Given the description of an element on the screen output the (x, y) to click on. 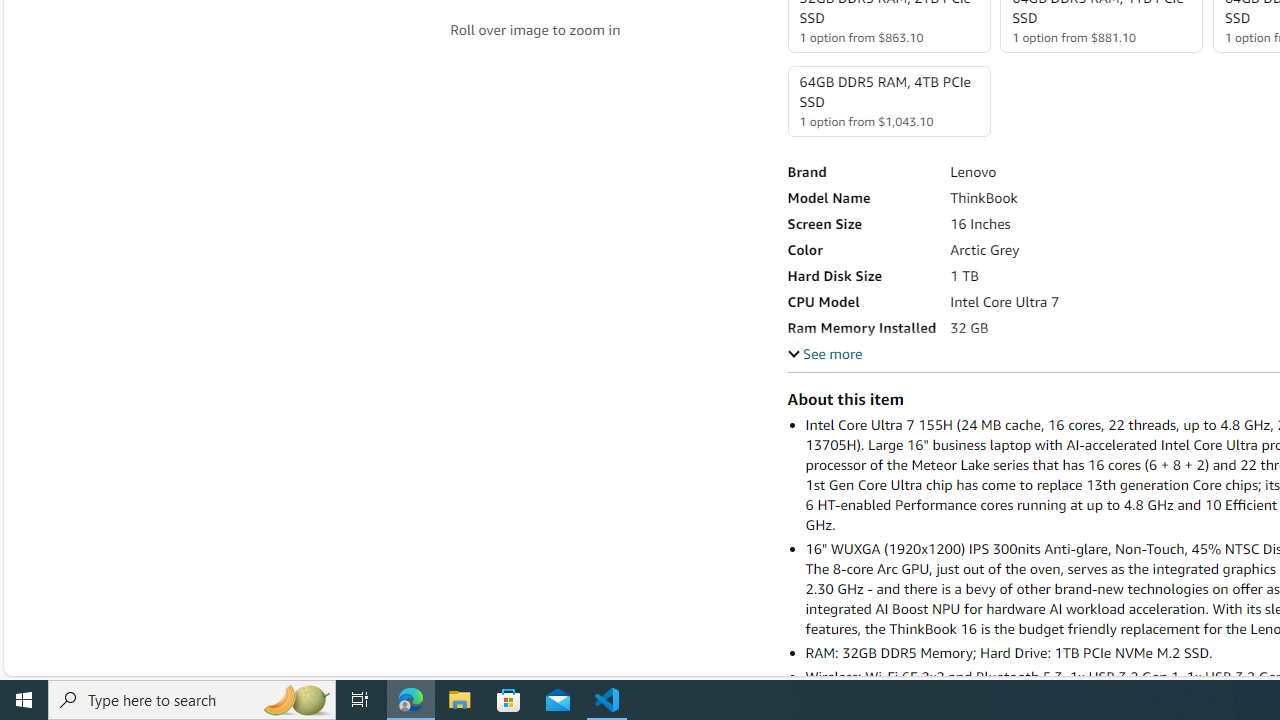
64GB DDR5 RAM, 4TB PCIe SSD 1 option from $1,043.10 (888, 101)
